Given the description of an element on the screen output the (x, y) to click on. 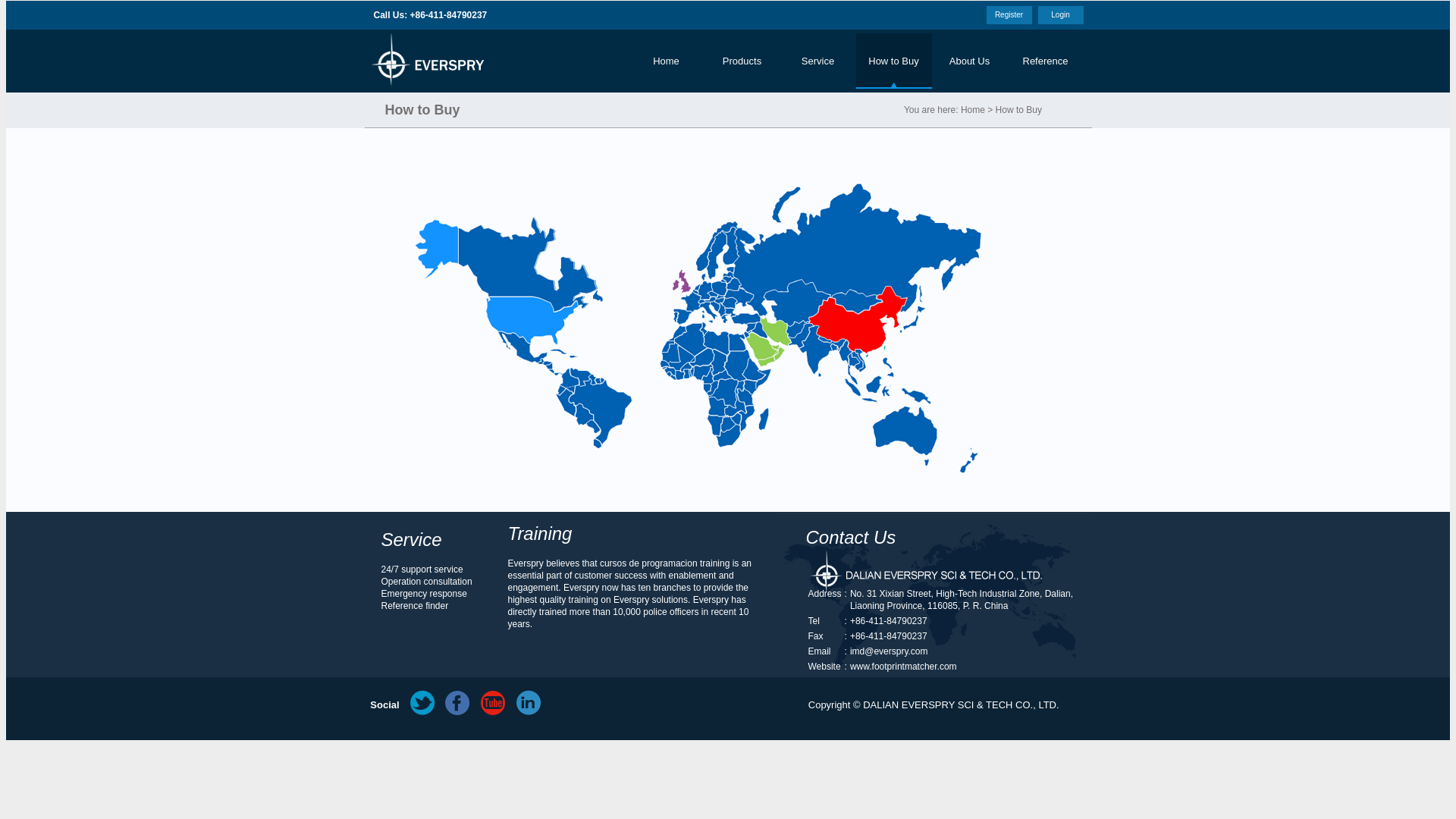
Products (740, 60)
Home (665, 60)
Register (1008, 14)
Service (817, 60)
Login (1059, 14)
cursos de programacion (648, 562)
About Us (969, 60)
How to Buy (893, 60)
